Given the description of an element on the screen output the (x, y) to click on. 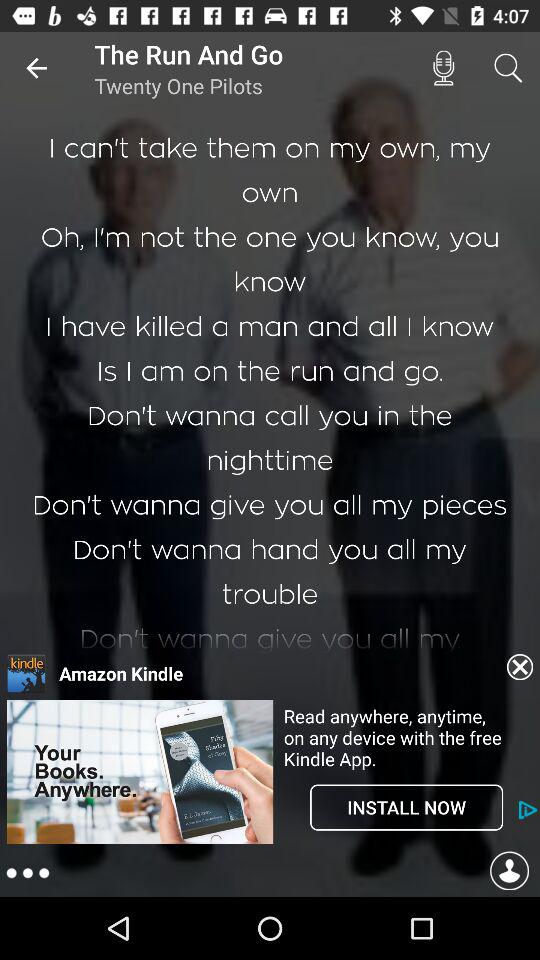
go to profile (509, 873)
